Given the description of an element on the screen output the (x, y) to click on. 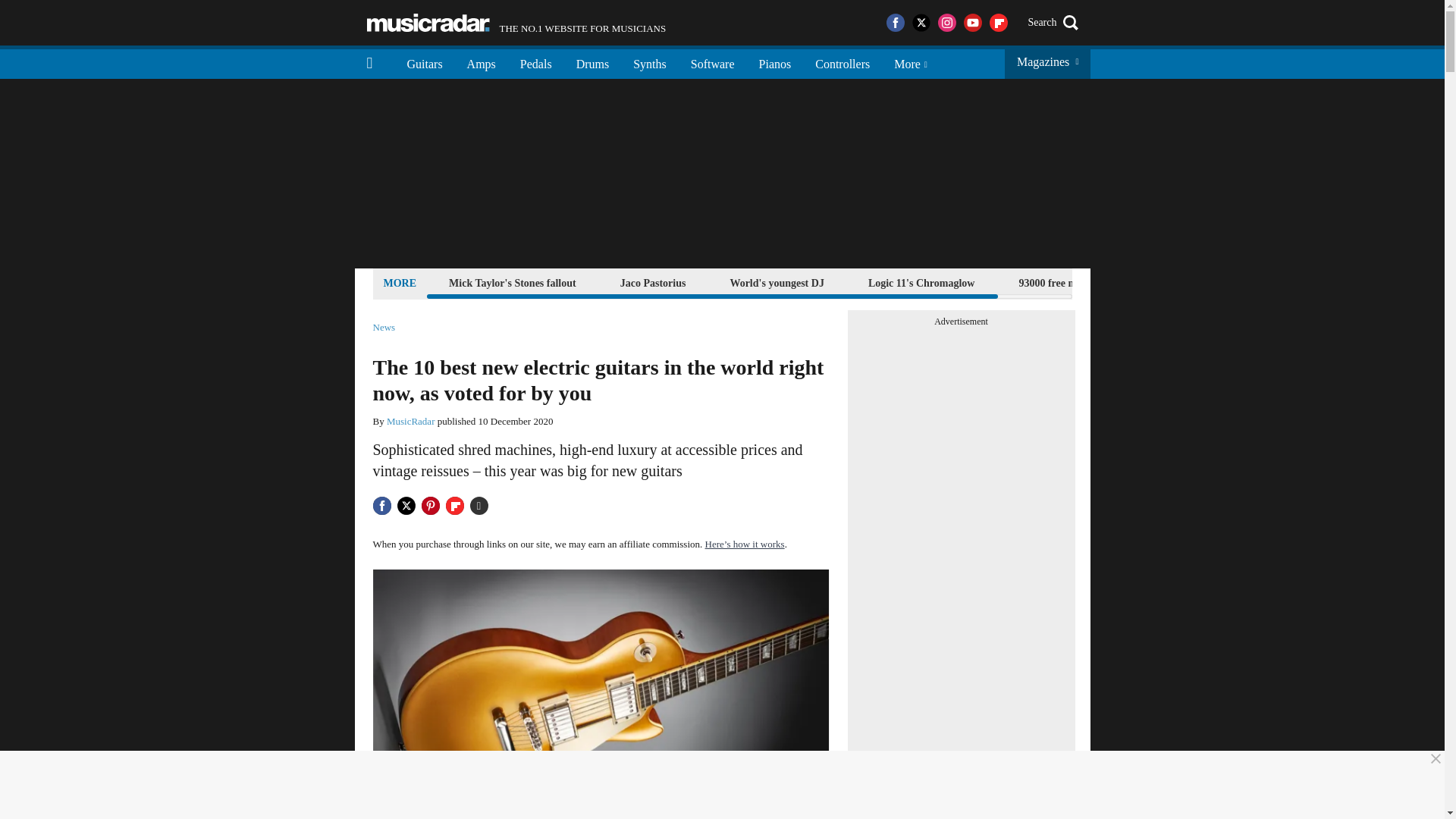
World's youngest DJ (775, 282)
Amps (481, 61)
Pianos (774, 61)
93000 free music samples (1075, 282)
Controllers (842, 61)
Jaco Pastorius (652, 282)
Drums (592, 61)
Music Radar (427, 22)
Software (712, 61)
Logic 11's Chromaglow (921, 282)
Advertisement (516, 22)
